Given the description of an element on the screen output the (x, y) to click on. 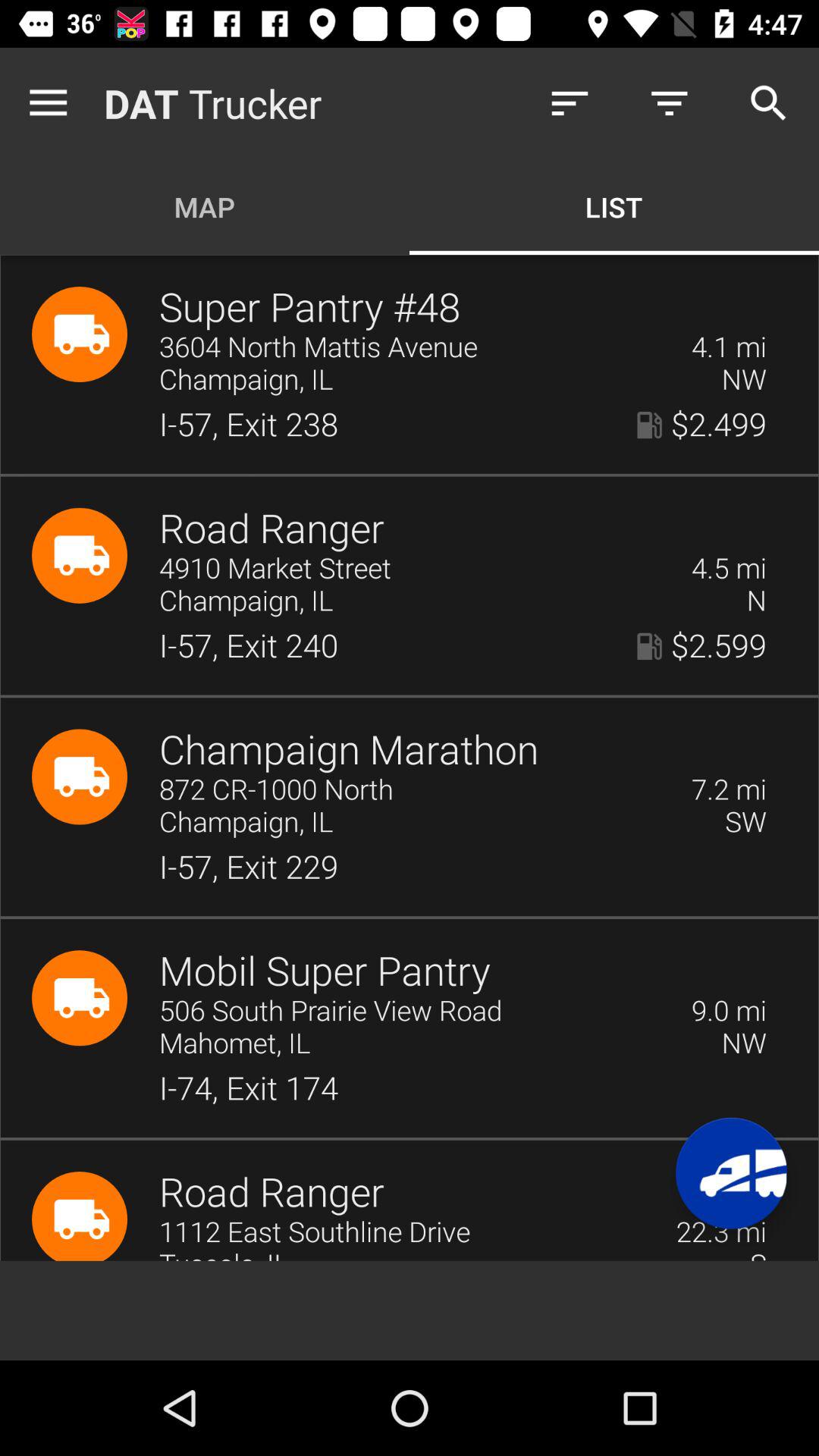
open n (756, 601)
